Given the description of an element on the screen output the (x, y) to click on. 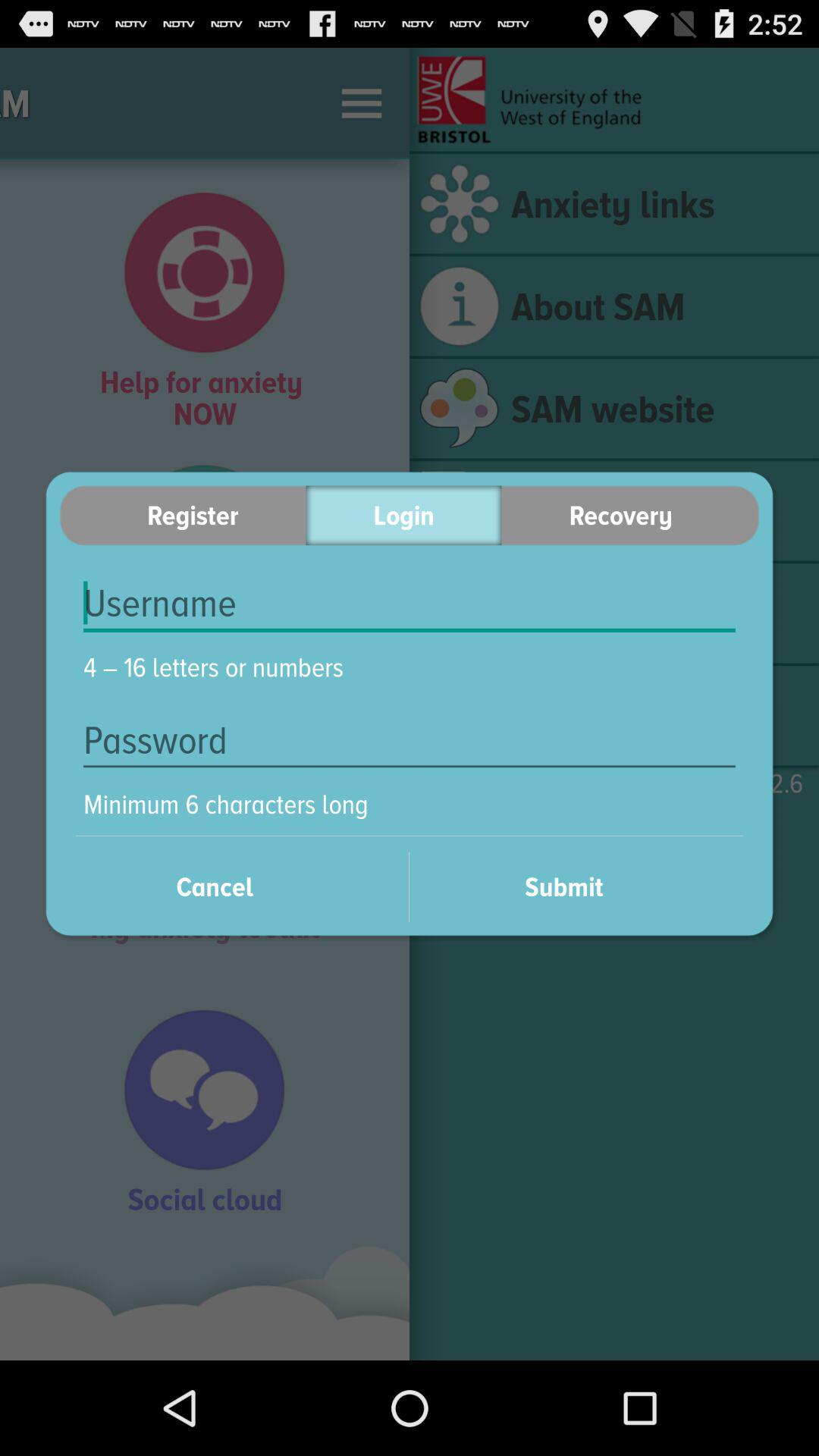
select submit item (584, 886)
